Given the description of an element on the screen output the (x, y) to click on. 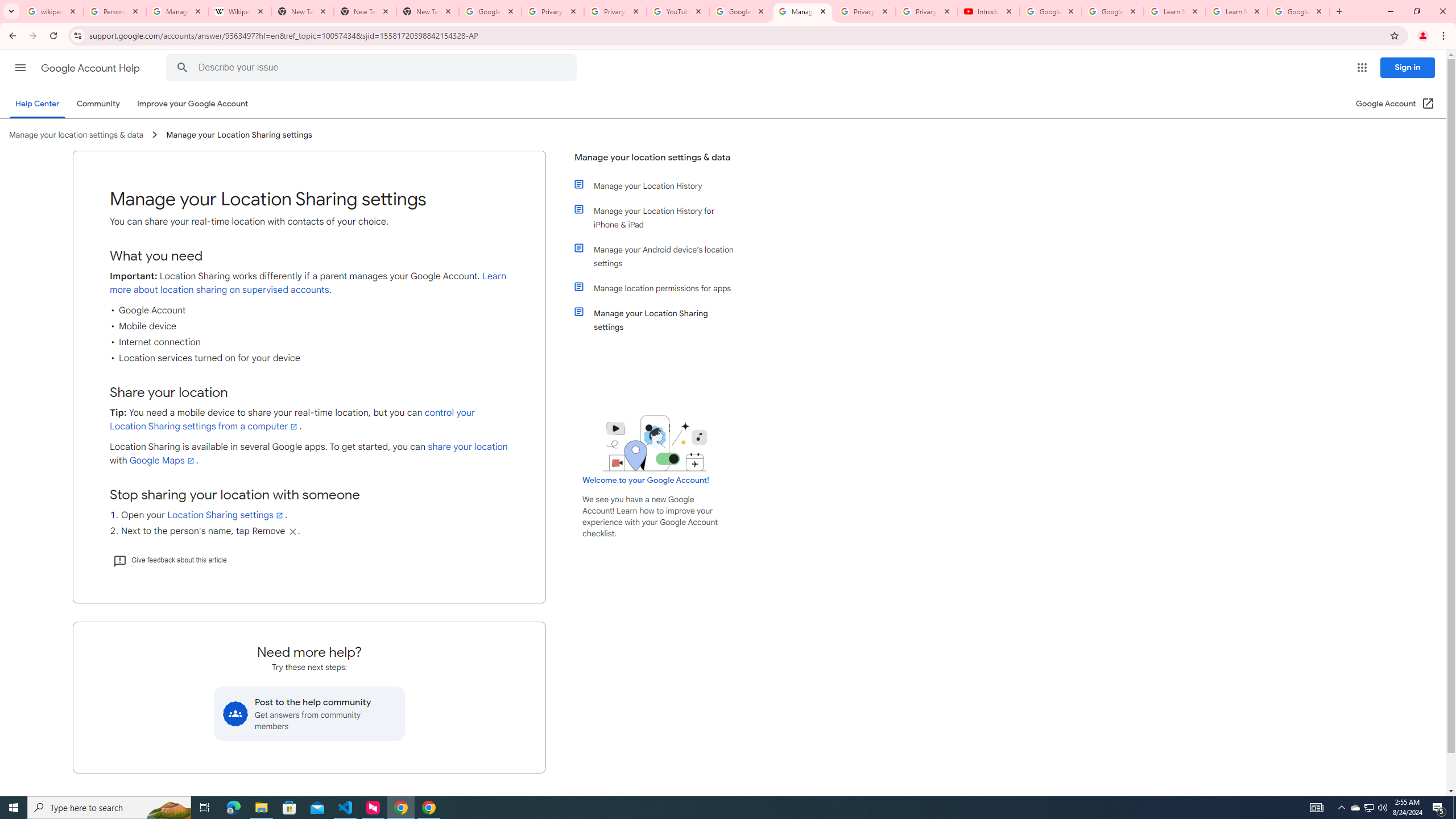
Personalization & Google Search results - Google Search Help (114, 11)
Community (97, 103)
Welcome to your Google Account! (645, 479)
Location Sharing settings (226, 514)
Manage your Location History for iPhone & iPad (661, 217)
Google Account Help (740, 11)
Google Maps (162, 460)
Google Account (1298, 11)
